Given the description of an element on the screen output the (x, y) to click on. 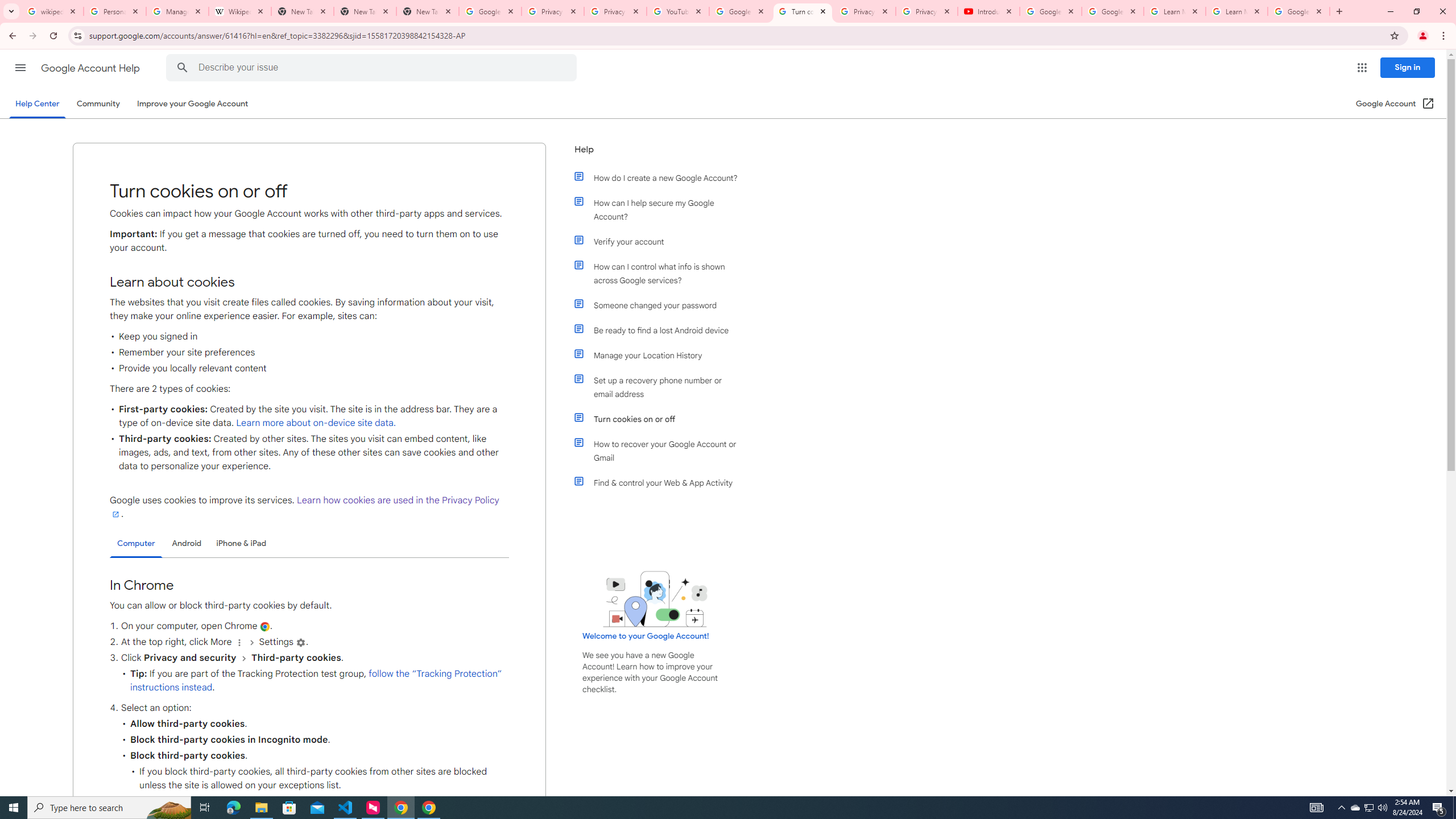
YouTube (678, 11)
Google Account Help (91, 68)
Google Account Help (1111, 11)
Learn how cookies are used in the Privacy Policy (304, 507)
Google Account (Open in a new window) (1395, 103)
How do I create a new Google Account? (661, 177)
Improve your Google Account (192, 103)
Be ready to find a lost Android device (661, 330)
Introduction | Google Privacy Policy - YouTube (988, 11)
Verify your account (661, 241)
